Given the description of an element on the screen output the (x, y) to click on. 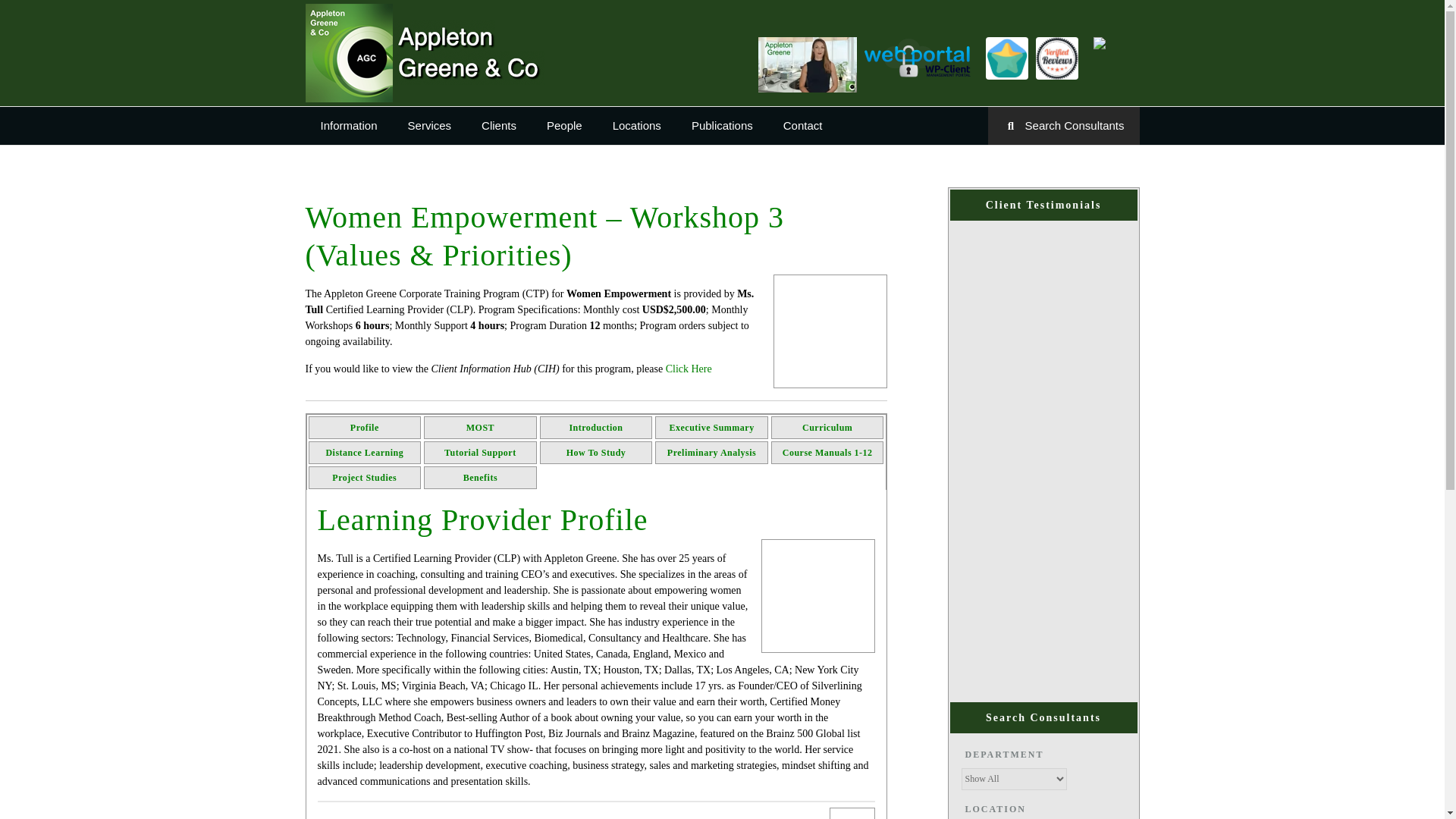
Information (347, 125)
Endorsal Reviews (1006, 57)
Client Support Portal (921, 56)
Verified Reviews (1056, 57)
Services (430, 125)
Locations (636, 125)
People (563, 125)
Clients (498, 125)
Executive Summary (807, 64)
